Given the description of an element on the screen output the (x, y) to click on. 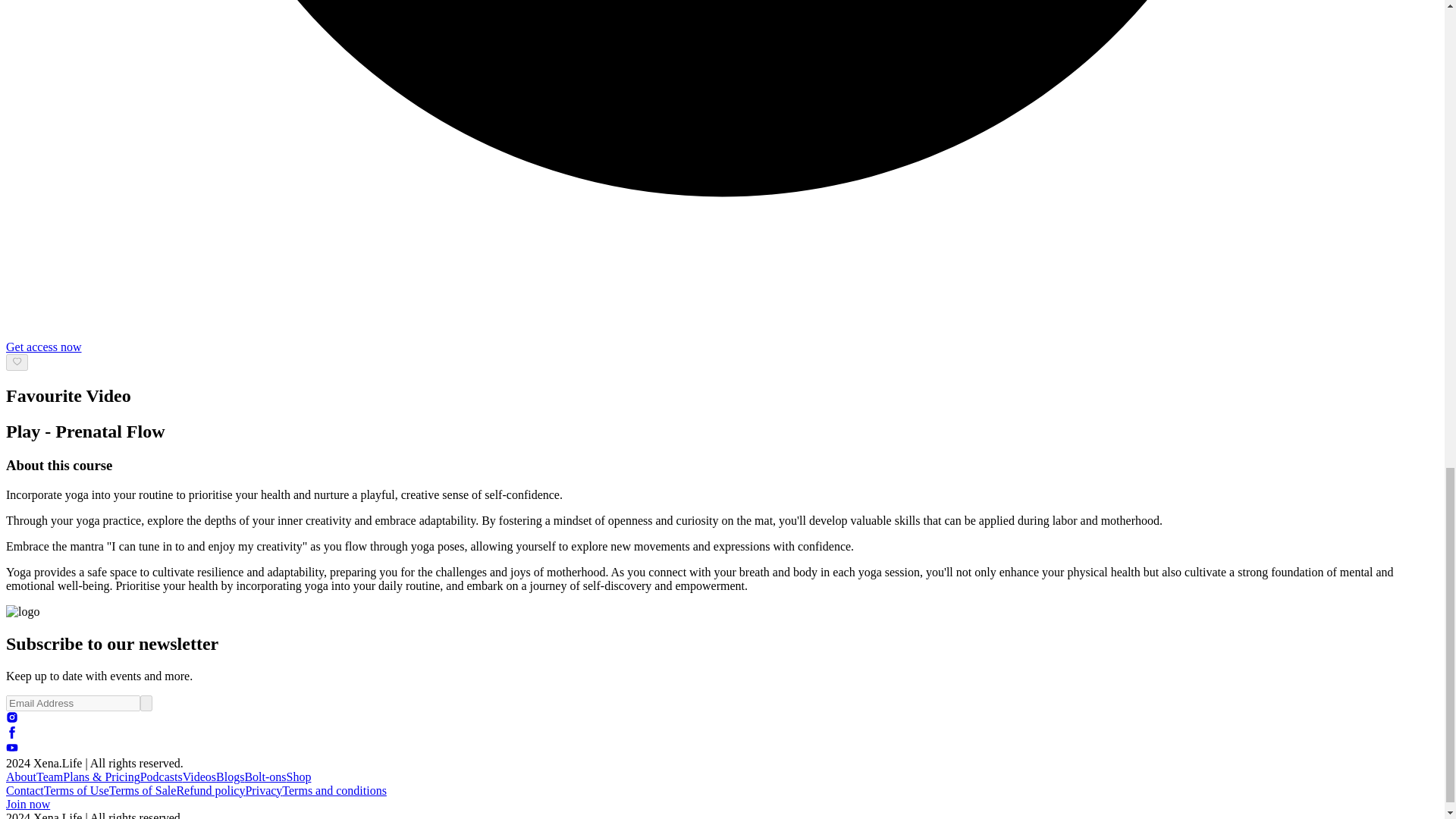
Refund policy (210, 789)
Get access now (43, 346)
Join now (27, 803)
Privacy (263, 789)
Bolt-ons (264, 776)
About (20, 776)
Terms and conditions (334, 789)
Contact (24, 789)
Terms of Use (76, 789)
Shop (298, 776)
Terms of Sale (142, 789)
Blogs (229, 776)
Team (49, 776)
Podcasts (161, 776)
Videos (199, 776)
